Given the description of an element on the screen output the (x, y) to click on. 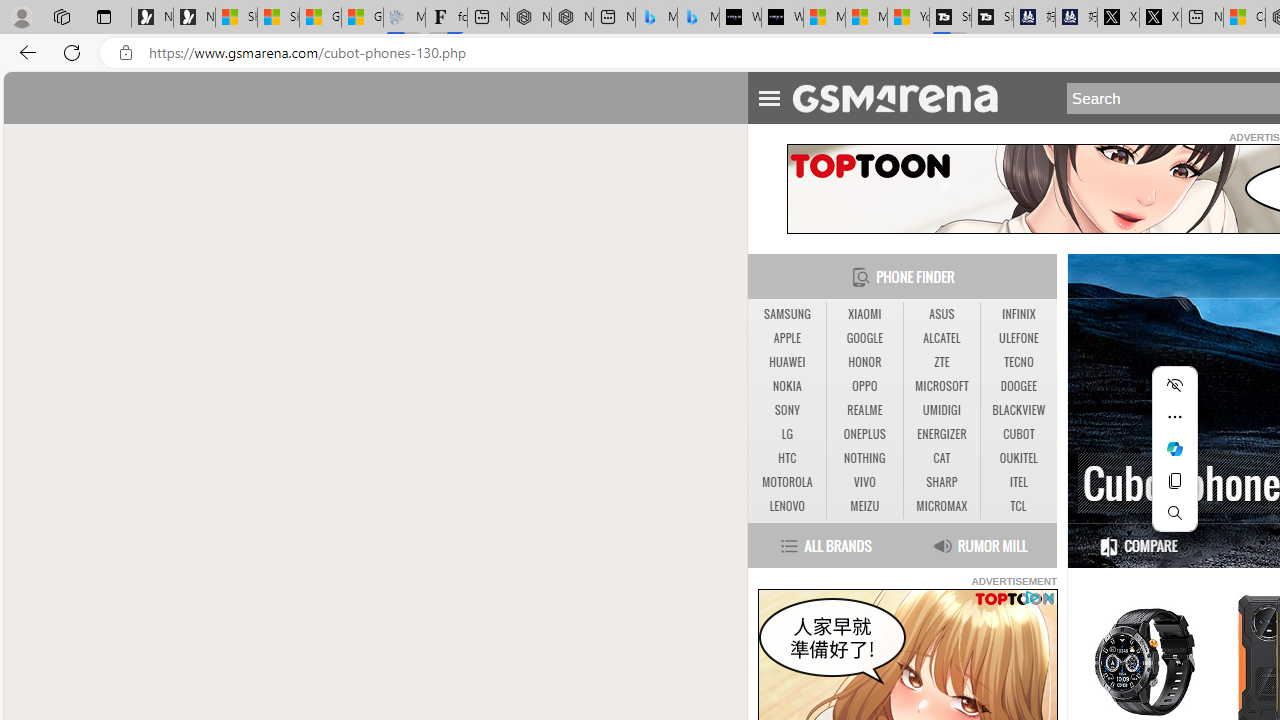
INFINIX (1018, 314)
Ask Copilot (1174, 448)
TCL (1018, 506)
ENERGIZER (941, 434)
NOKIA (786, 386)
LG (786, 434)
Shanghai, China weather forecast | Microsoft Weather (278, 17)
AutomationID: anchor (904, 97)
BLACKVIEW (1018, 410)
MEIZU (864, 506)
MICROMAX (941, 506)
Search (1174, 512)
CUBOT (1018, 434)
